Given the description of an element on the screen output the (x, y) to click on. 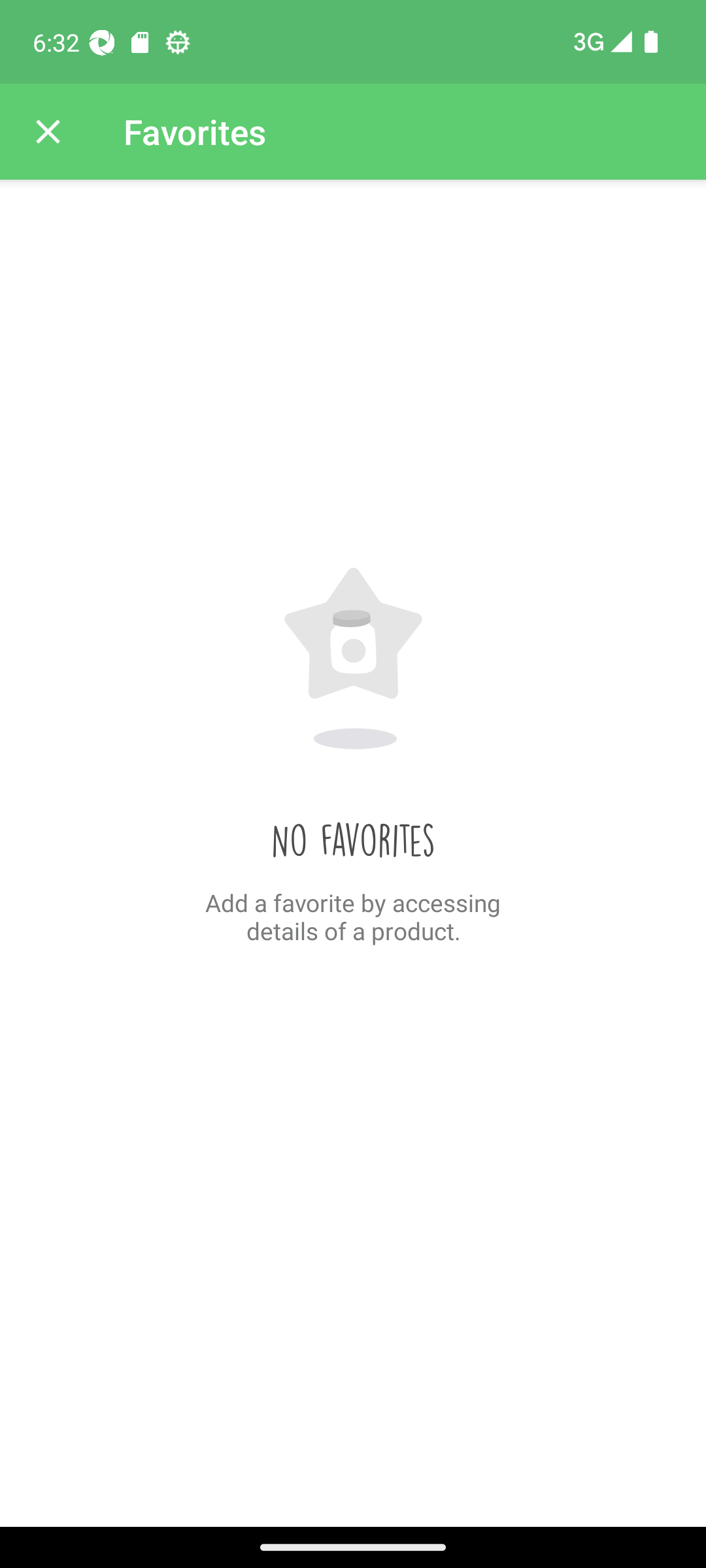
Navigate up (48, 131)
